Given the description of an element on the screen output the (x, y) to click on. 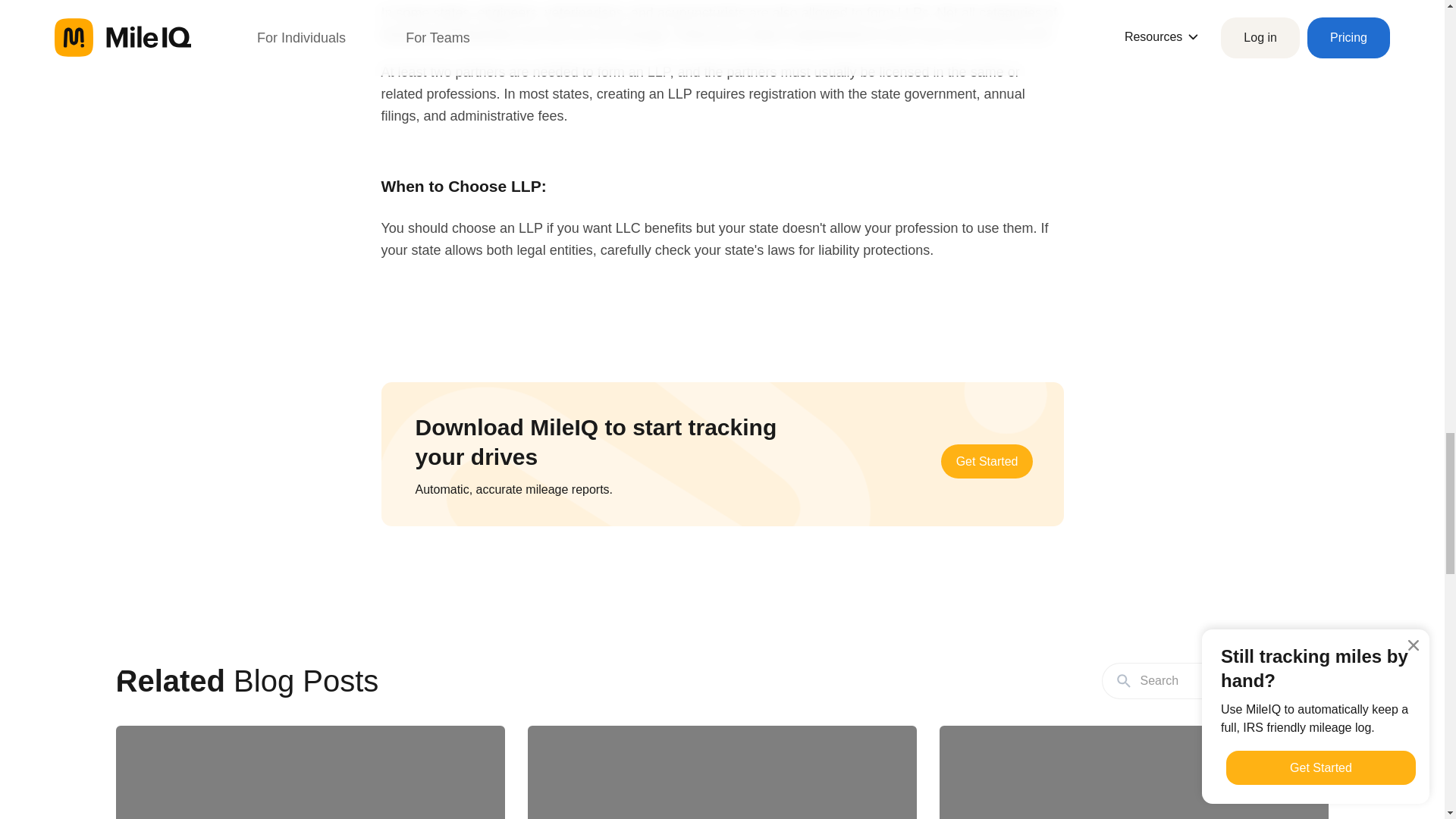
Get Started (986, 461)
